Given the description of an element on the screen output the (x, y) to click on. 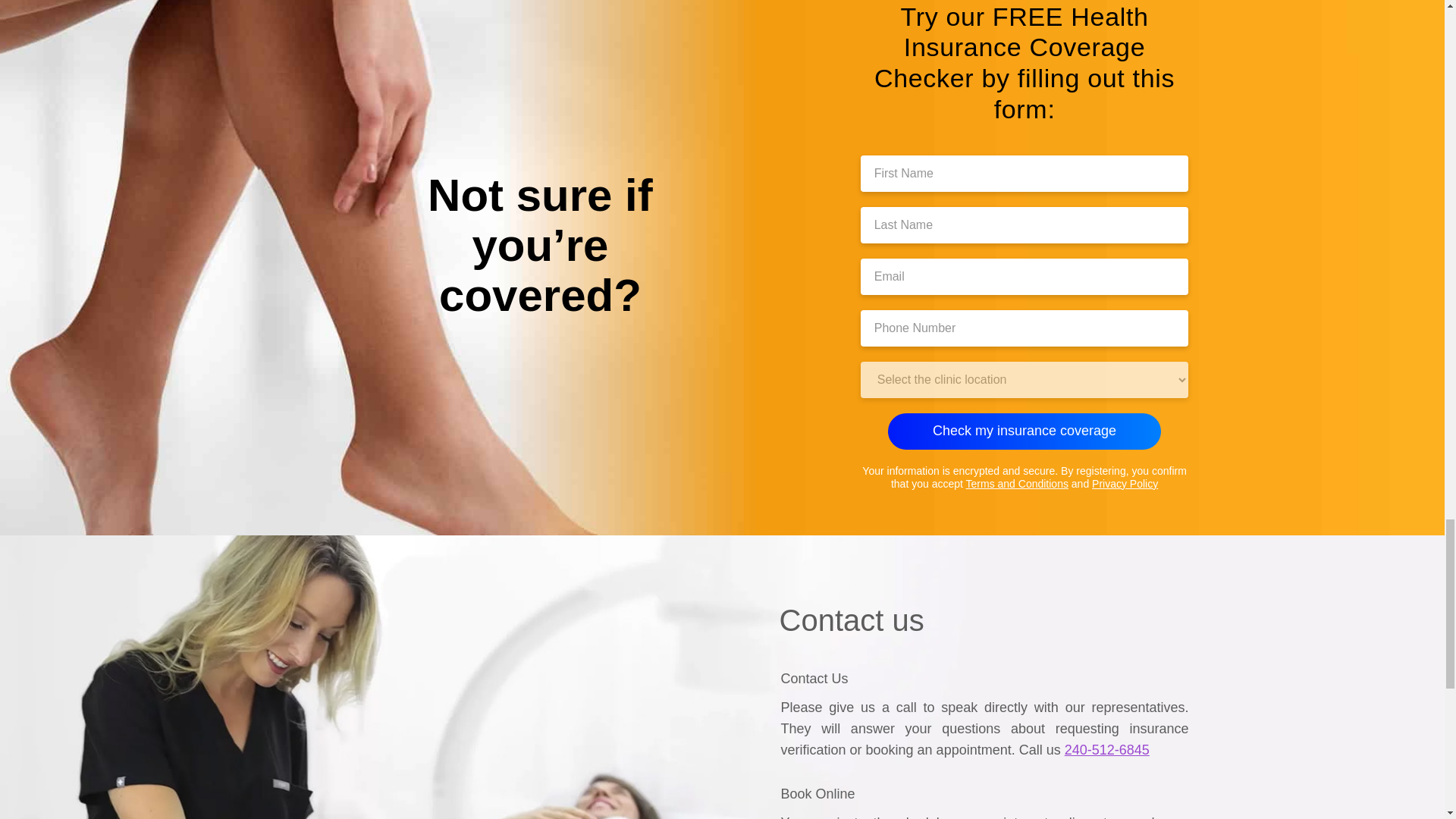
Check my insurance coverage (1024, 431)
Please enter up to 10 digits, spaces are allowed. (1024, 328)
